Given the description of an element on the screen output the (x, y) to click on. 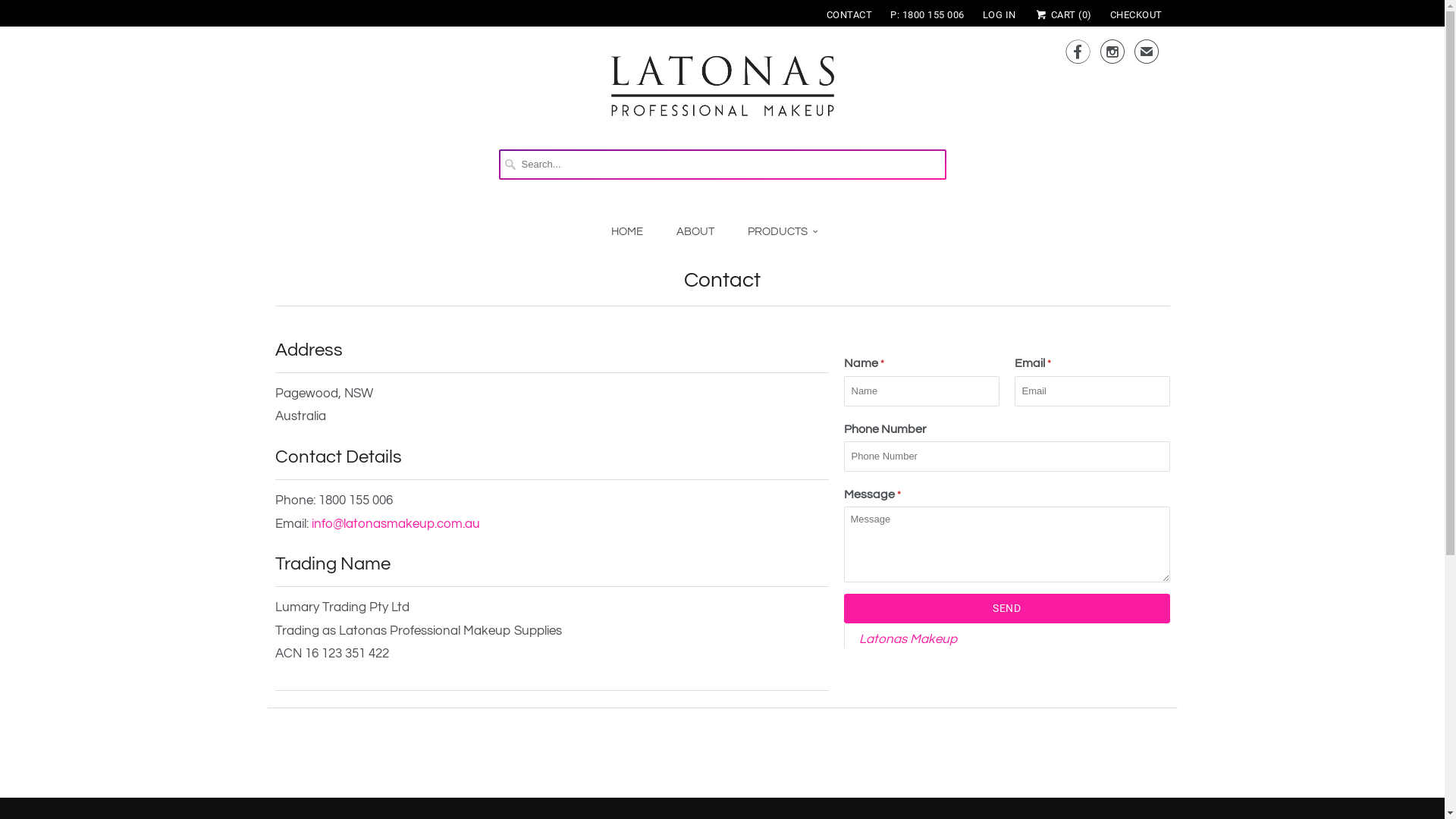
CHECKOUT Element type: text (1136, 14)
P: 1800 155 006 Element type: text (927, 14)
PRODUCTS Element type: text (783, 232)
ABOUT Element type: text (695, 231)
Latonas Makeup Element type: hover (722, 93)
CONTACT Element type: text (849, 14)
info@latonasmakeup.com.au Element type: text (394, 523)
HOME Element type: text (627, 231)
LOG IN Element type: text (999, 14)
Send Element type: text (1006, 608)
Latonas Makeup Element type: text (907, 639)
CART (0) Element type: text (1063, 14)
